Given the description of an element on the screen output the (x, y) to click on. 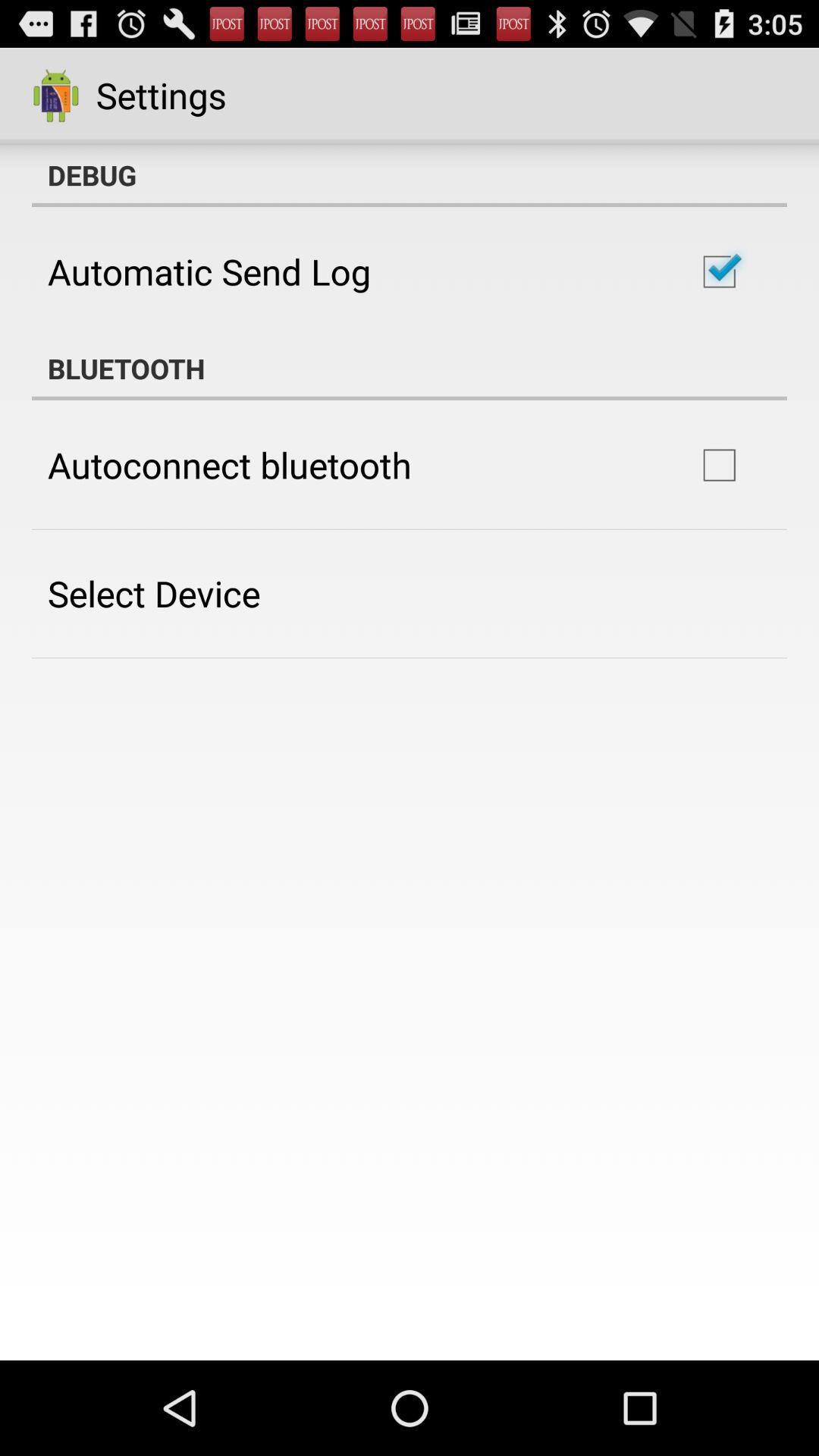
turn on the automatic send log icon (208, 271)
